Given the description of an element on the screen output the (x, y) to click on. 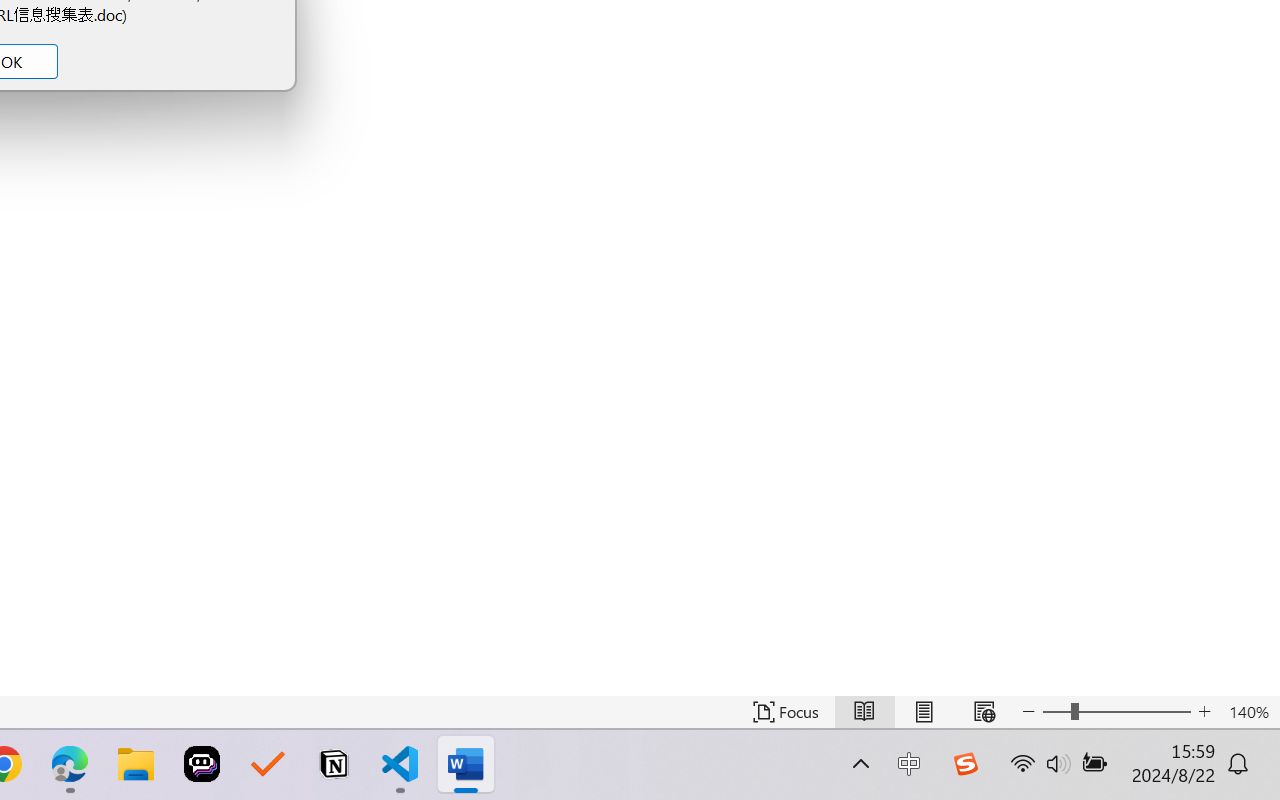
Read Mode (864, 712)
Focus  (786, 712)
Web Layout (984, 712)
Decrease Text Size (1028, 712)
Class: Image (965, 764)
Zoom Out (1056, 712)
Increase Text Size (1204, 712)
Print Layout (924, 712)
Poe (201, 764)
Zoom In (1135, 712)
Notion (333, 764)
